Given the description of an element on the screen output the (x, y) to click on. 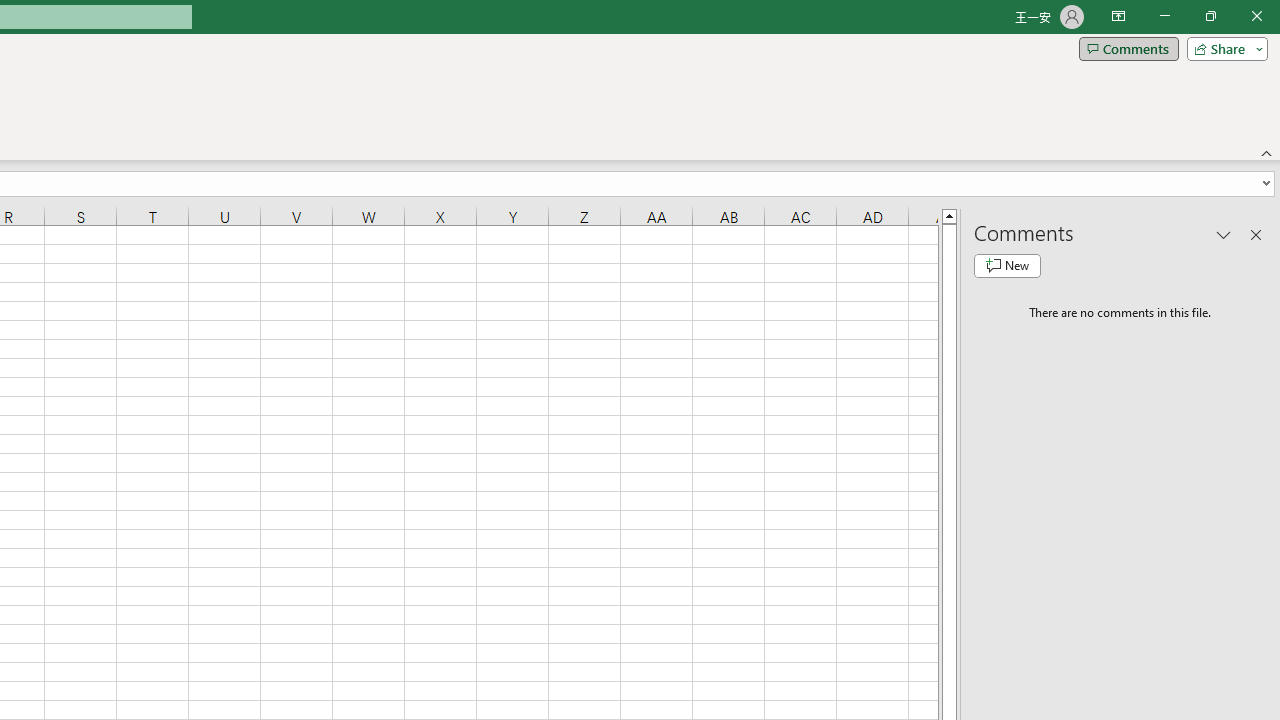
New comment (1007, 265)
